Given the description of an element on the screen output the (x, y) to click on. 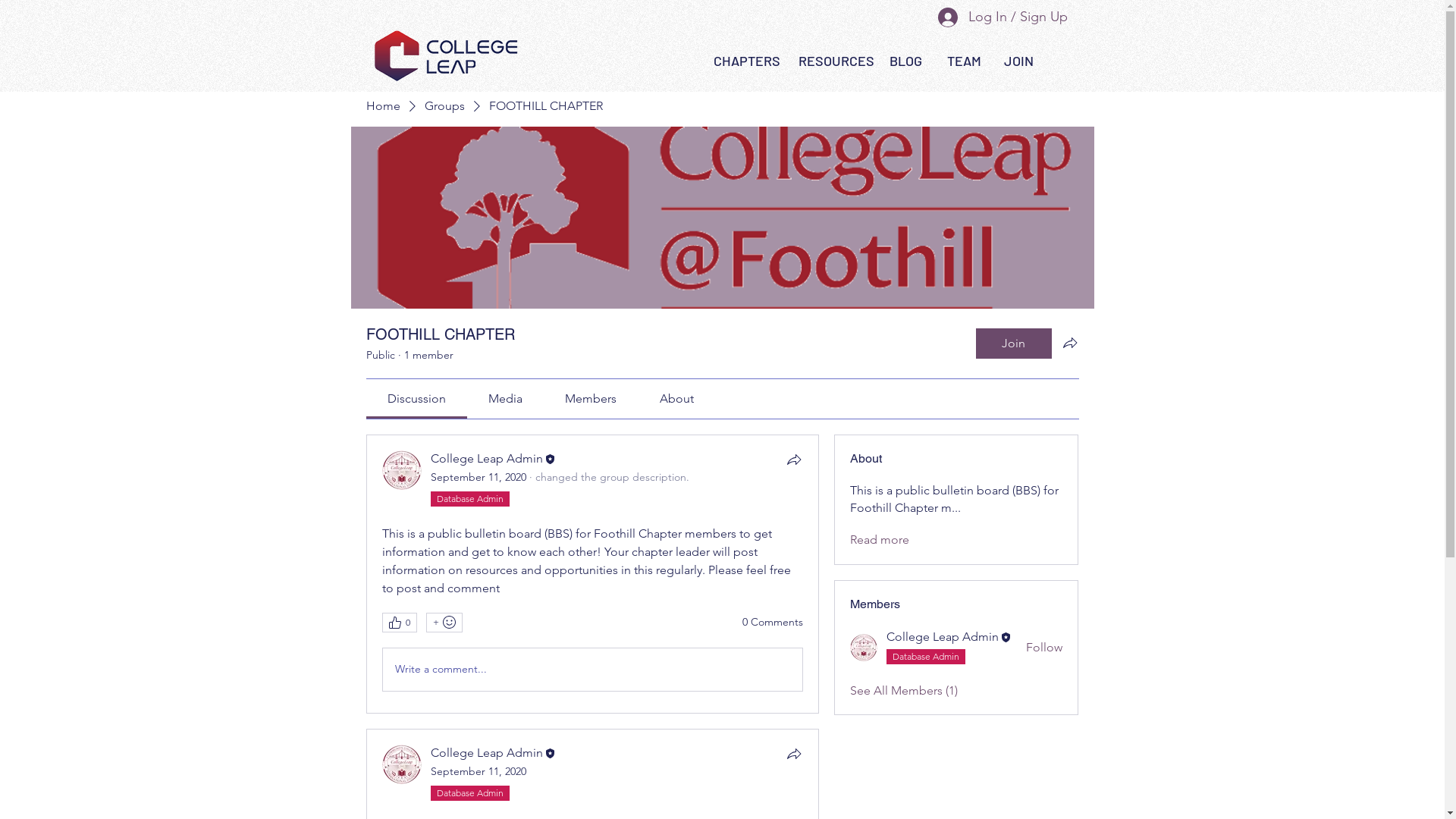
September 11, 2020 Element type: text (478, 771)
September 11, 2020 Element type: text (478, 476)
College Leap Admin Element type: hover (401, 469)
CHAPTERS Element type: text (745, 61)
BLOG Element type: text (904, 61)
College Leap Admin Element type: text (486, 752)
Home Element type: text (382, 105)
College Leap Admin Element type: hover (863, 647)
College Leap Admin Element type: text (486, 458)
Log In / Sign Up Element type: text (996, 17)
Write a comment... Element type: text (592, 669)
Follow Element type: text (1044, 647)
College Leap Admin Element type: hover (401, 764)
0 Comments Element type: text (772, 622)
TEAM Element type: text (963, 61)
Join Element type: text (1013, 343)
College Leap Admin Element type: text (942, 636)
Read more Element type: text (879, 539)
JOIN Element type: text (1018, 61)
RESOURCES Element type: text (835, 61)
Groups Element type: text (444, 105)
See All Members (1) Element type: text (903, 690)
